Given the description of an element on the screen output the (x, y) to click on. 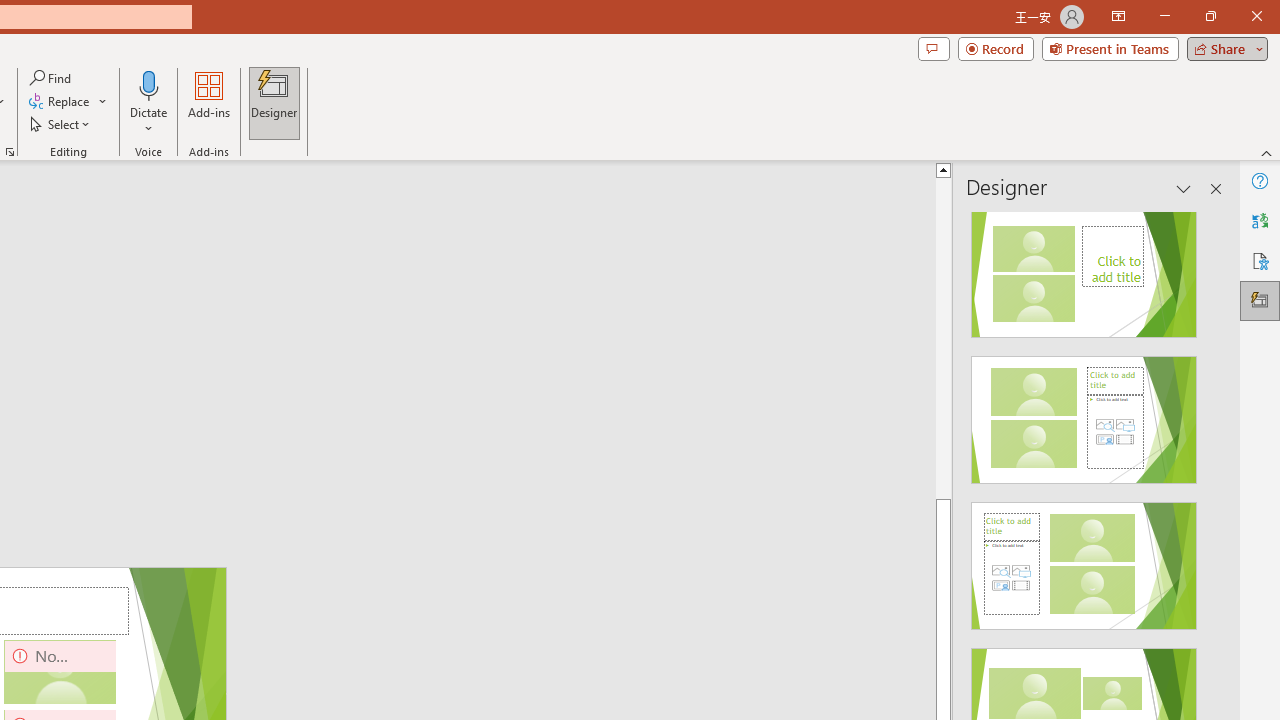
Design Idea (1083, 559)
Camera 5, No camera detected. (59, 672)
Recommended Design: Design Idea (1083, 268)
